Given the description of an element on the screen output the (x, y) to click on. 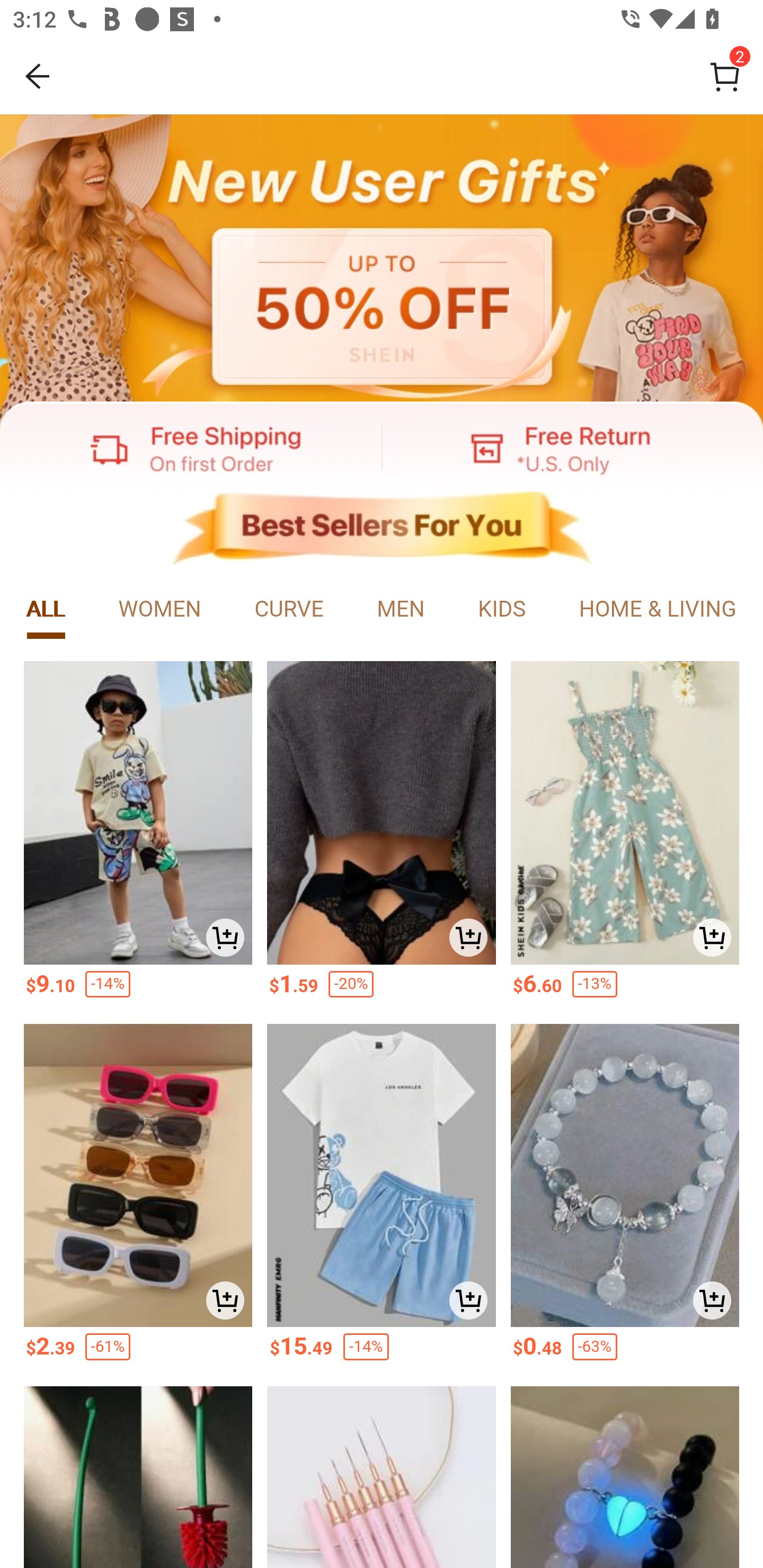
BACK (38, 75)
Cart 2 (724, 75)
javascript:; (381, 258)
javascript:; (190, 446)
javascript:; (572, 446)
javascript:; (381, 528)
tab item (46, 609)
tab item (159, 609)
tab item (288, 609)
tab item (400, 609)
tab item (501, 609)
tab item (657, 609)
Floral Lace Bow Back Panty Lingerie (381, 812)
$9.10 -14% (137, 989)
$1.59 -20% (381, 989)
$6.60 -13% (625, 989)
$2.39 -61% (137, 1352)
$15.49 -14% (381, 1352)
$0.48 -63% (625, 1352)
